Given the description of an element on the screen output the (x, y) to click on. 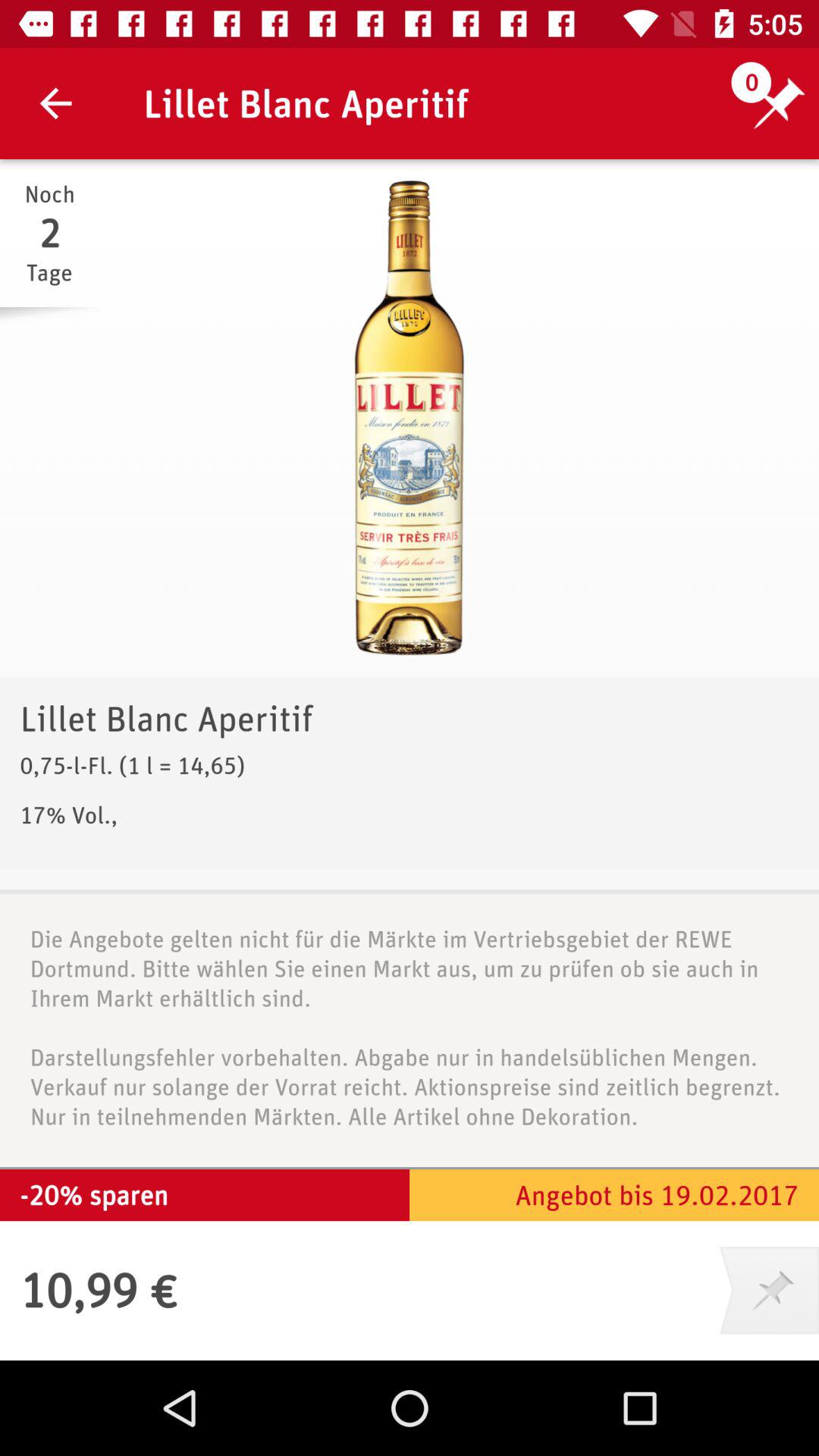
choose the icon next to lillet blanc aperitif (55, 103)
